Given the description of an element on the screen output the (x, y) to click on. 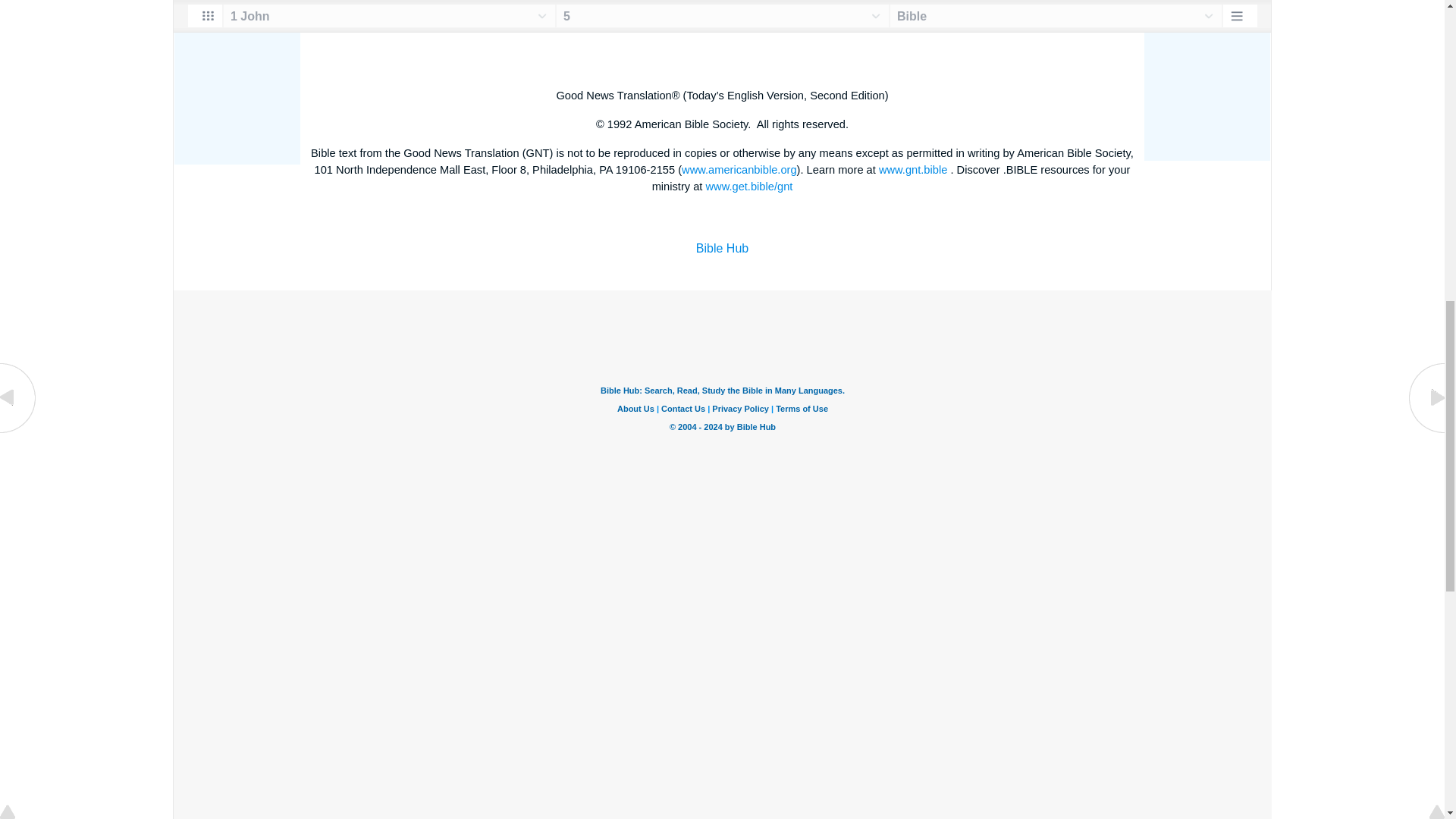
www.americanbible.org (738, 169)
Bible Hub (721, 247)
www.gnt.bible (913, 169)
Top of Page (18, 1)
